Given the description of an element on the screen output the (x, y) to click on. 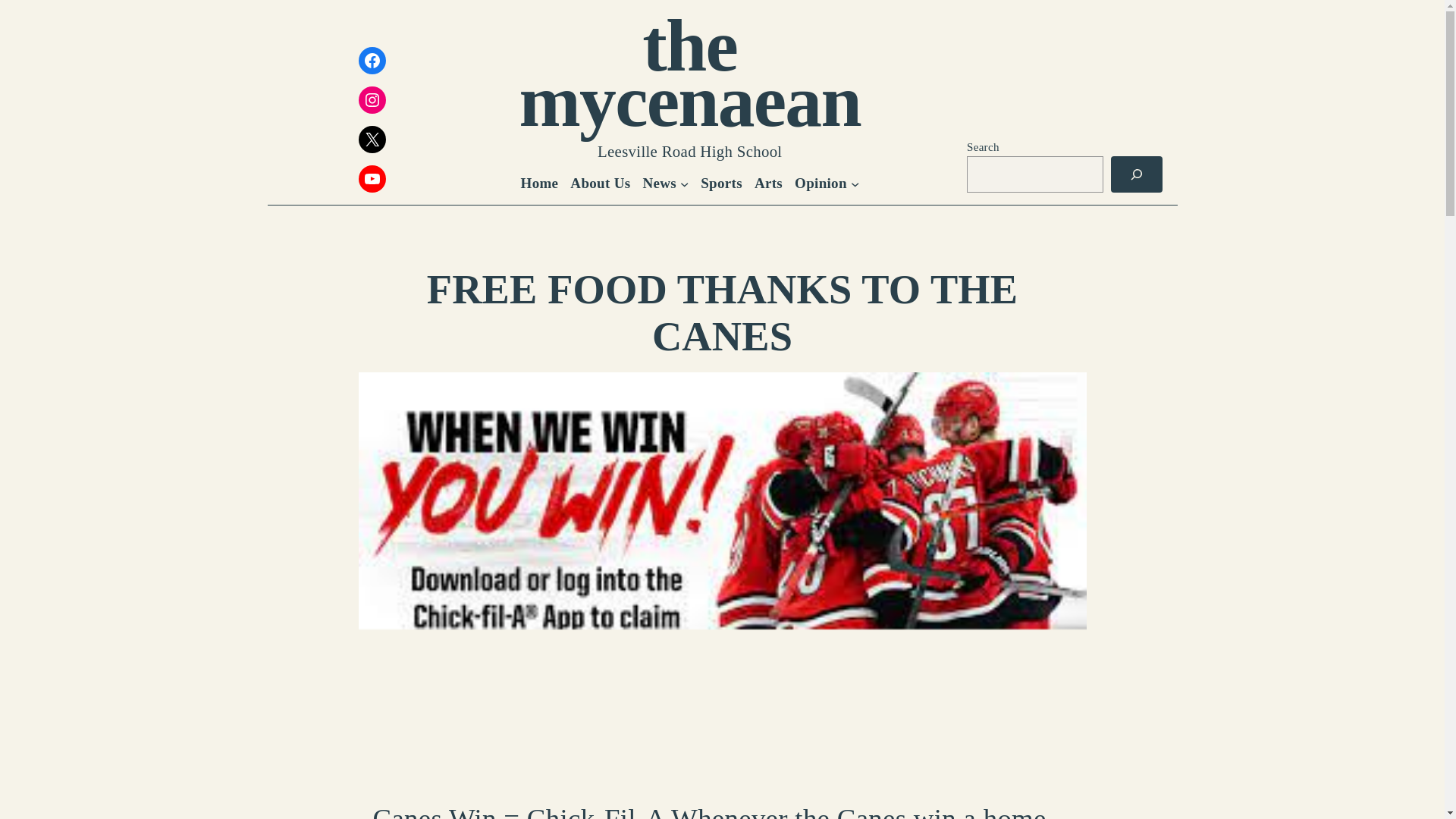
Opinion (820, 183)
About Us (600, 183)
Home (540, 183)
News (659, 183)
X (371, 139)
Facebook (371, 60)
YouTube (371, 178)
Sports (721, 183)
Arts (768, 183)
Instagram (371, 99)
